Given the description of an element on the screen output the (x, y) to click on. 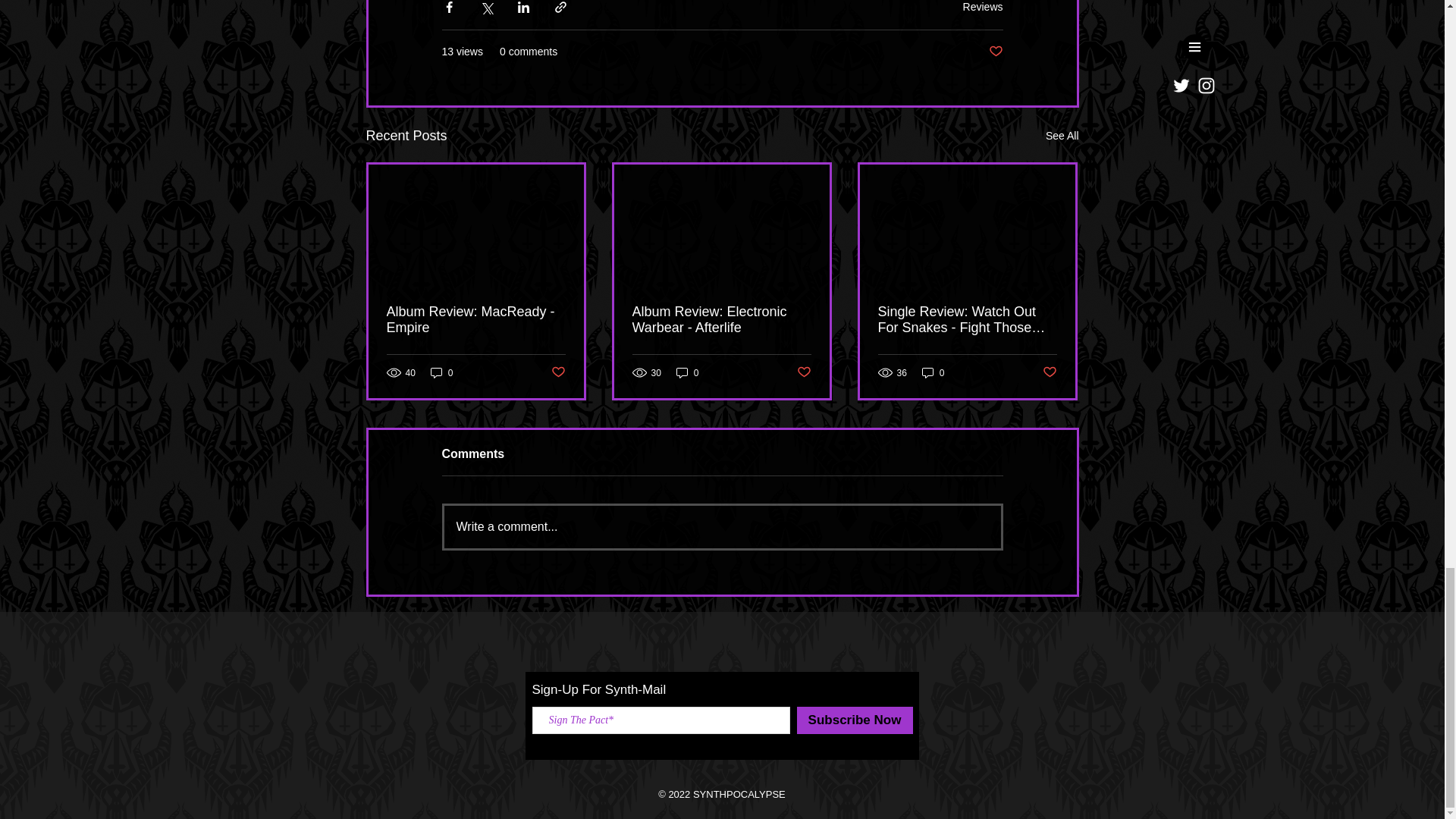
Album Review: MacReady - Empire (476, 319)
Post not marked as liked (557, 372)
Post not marked as liked (995, 51)
Post not marked as liked (803, 372)
0 (933, 372)
0 (441, 372)
Reviews (982, 6)
Album Review: Electronic Warbear - Afterlife (720, 319)
0 (687, 372)
Write a comment... (722, 526)
See All (1061, 136)
Post not marked as liked (1049, 372)
